Given the description of an element on the screen output the (x, y) to click on. 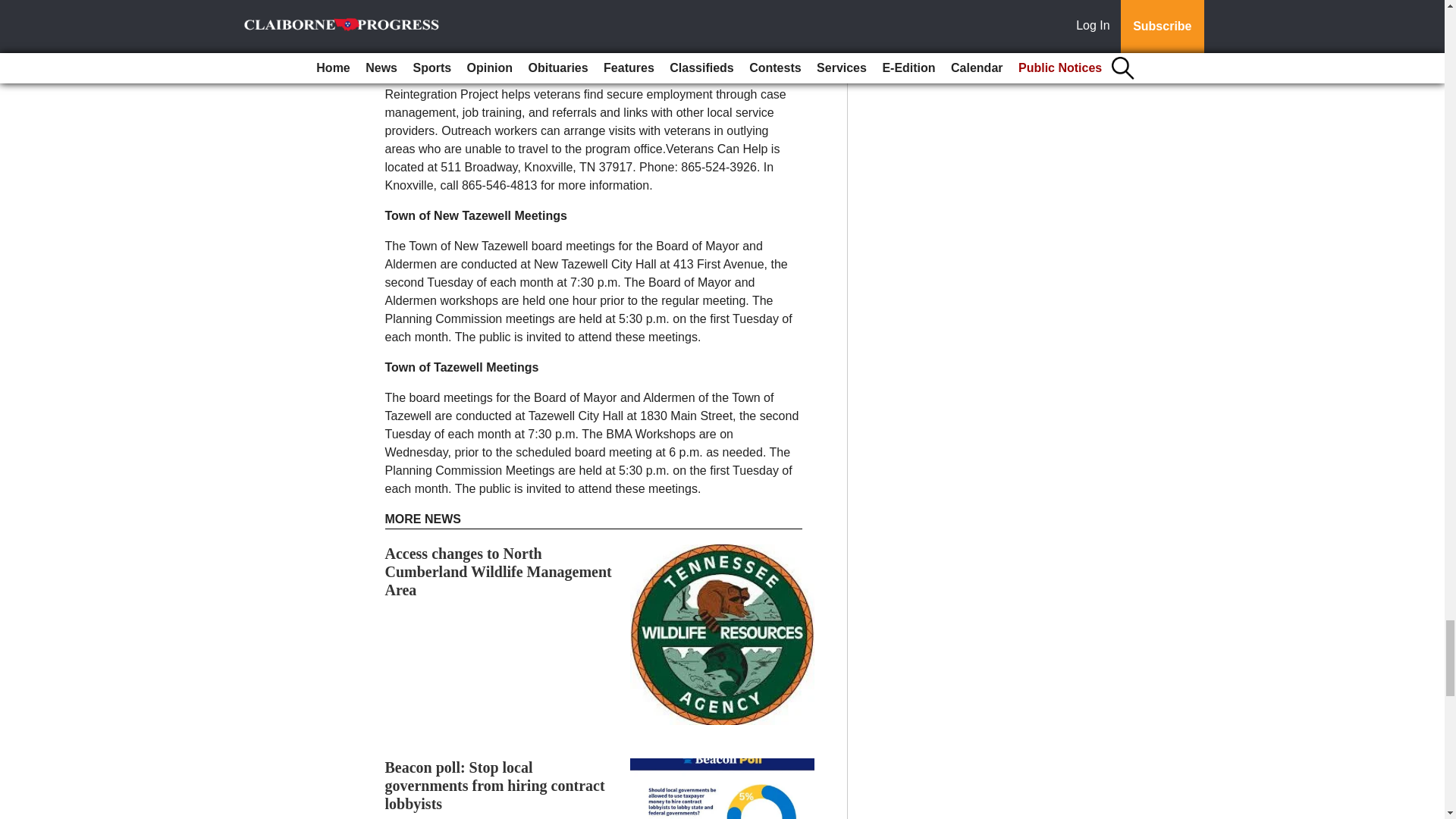
Access changes to North Cumberland Wildlife Management Area (498, 571)
Access changes to North Cumberland Wildlife Management Area (498, 571)
